Given the description of an element on the screen output the (x, y) to click on. 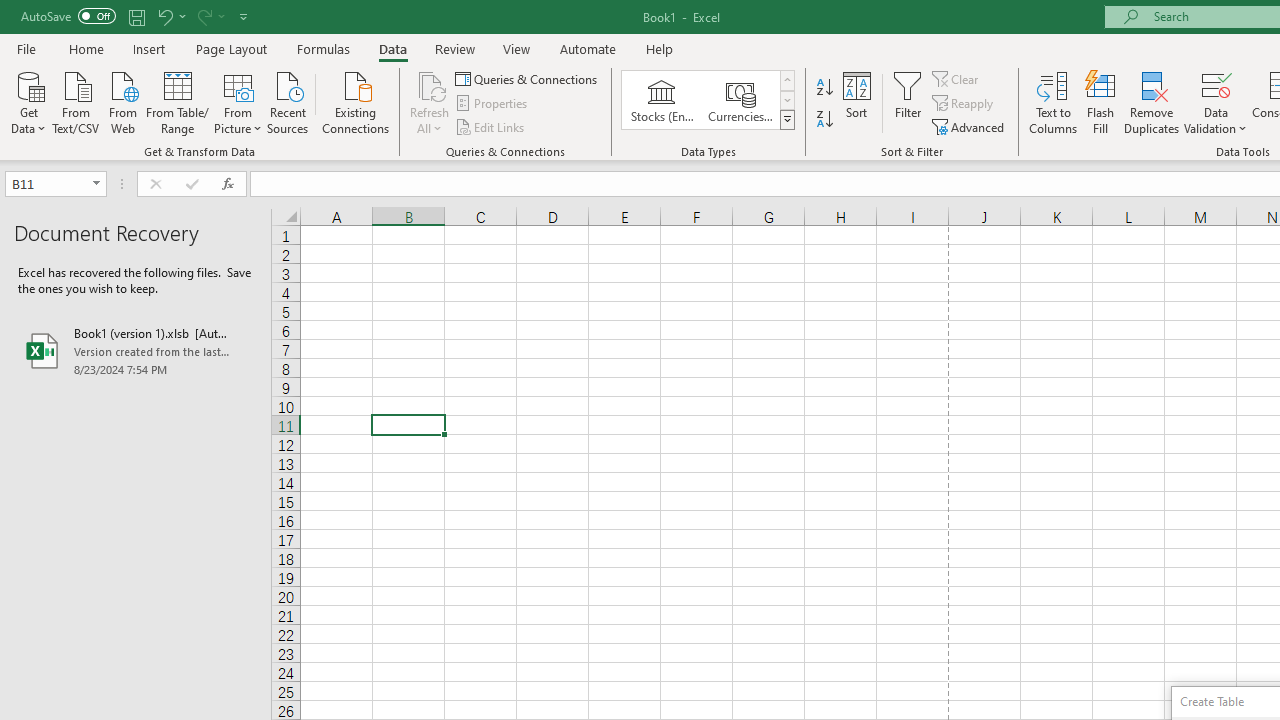
Sort Z to A (824, 119)
